Given the description of an element on the screen output the (x, y) to click on. 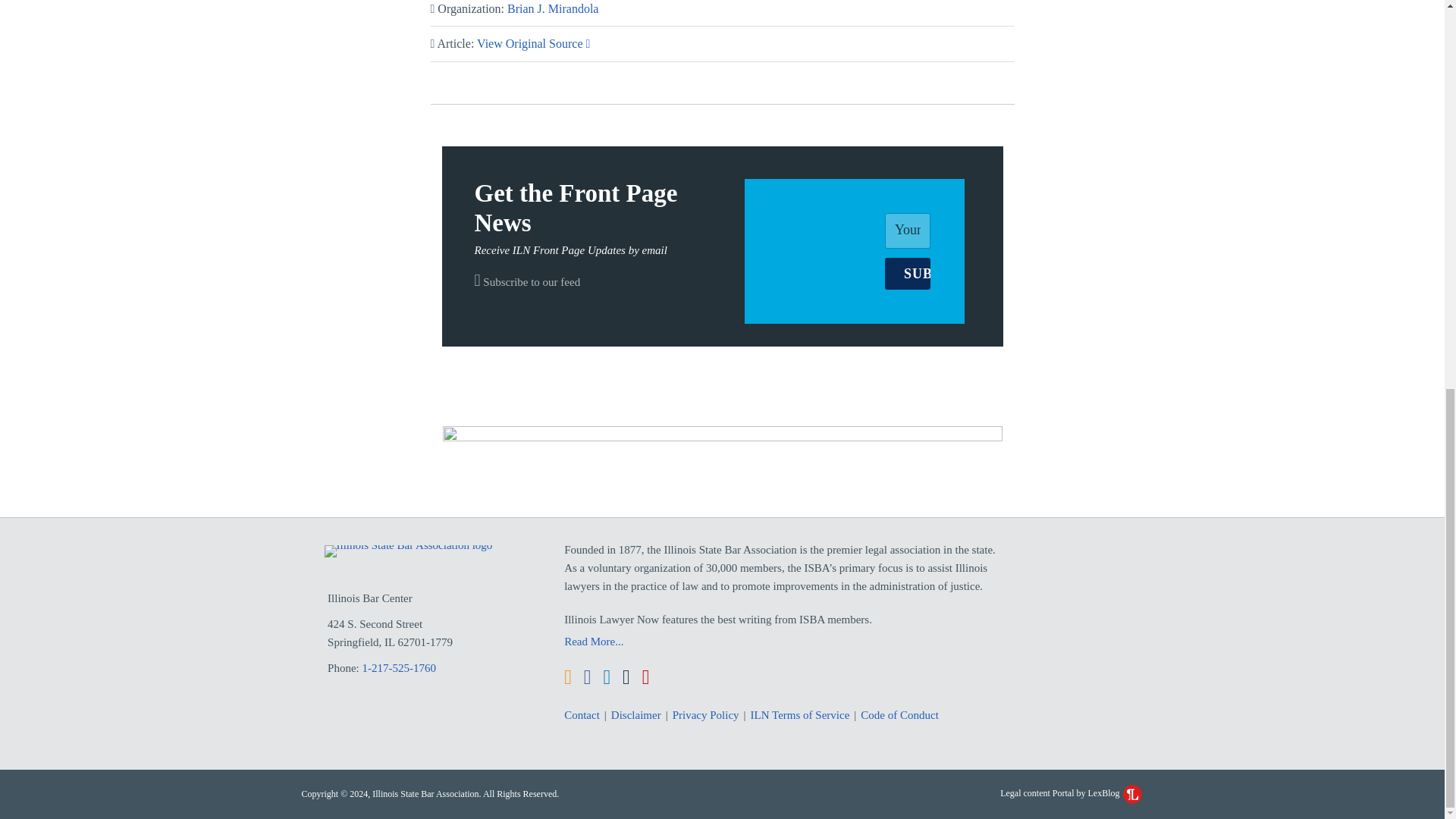
Disclaimer (636, 714)
Privacy Policy (705, 714)
Code of Conduct (899, 714)
SUBSCRIBE (907, 273)
ILN Terms of Service (800, 714)
1-217-525-1760 (399, 667)
Contact (581, 714)
Subscribe to our feed (527, 282)
View Original Source (533, 42)
Read More... (786, 641)
SUBSCRIBE (907, 273)
LexBlog Logo (1131, 793)
Brian J. Mirandola (552, 8)
